Given the description of an element on the screen output the (x, y) to click on. 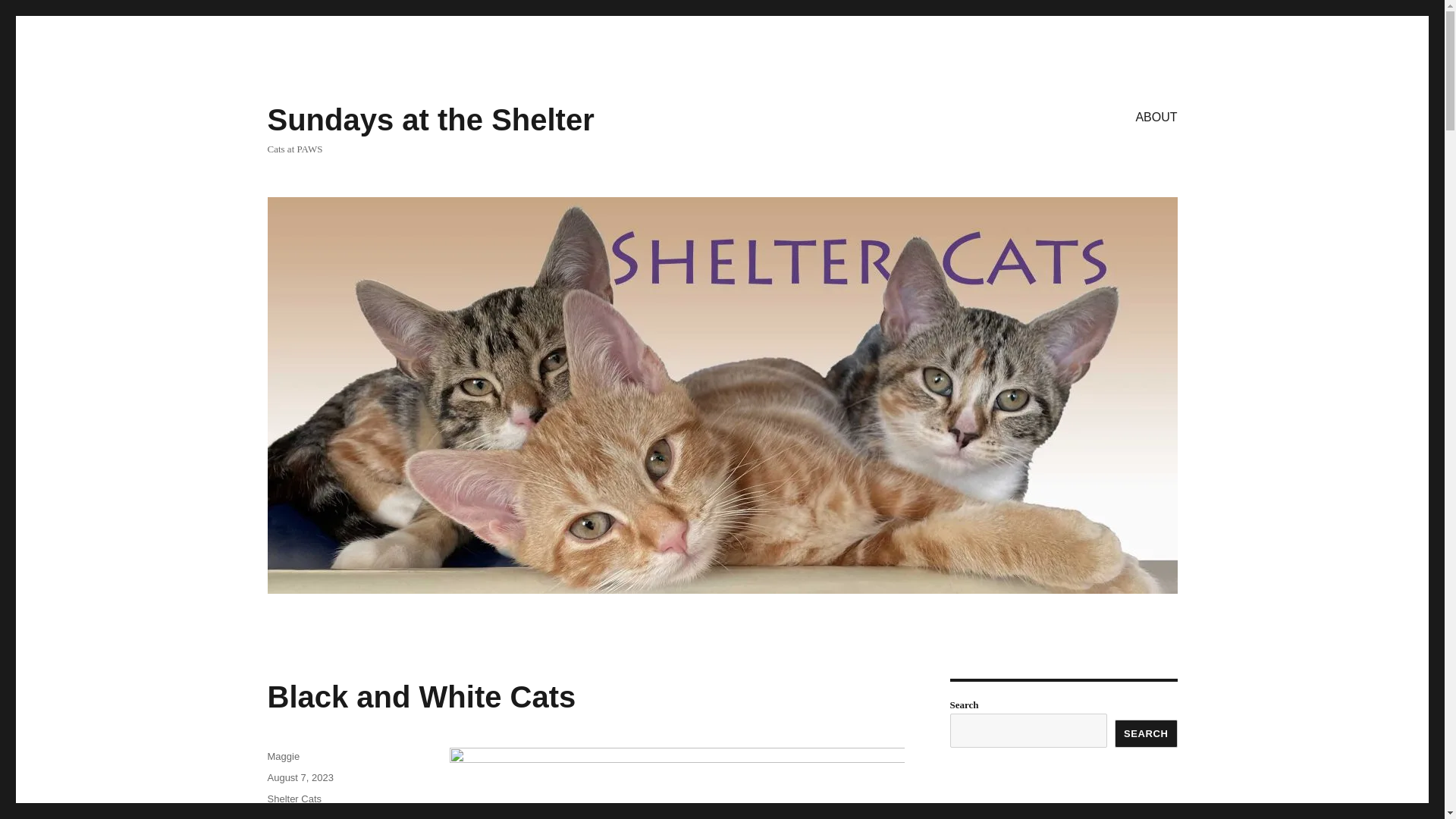
Maggie (282, 756)
black and white cats (310, 816)
PAWS animal shelter (327, 816)
ABOUT (1156, 116)
Sundays at the Shelter (430, 119)
Shelter Cats (293, 798)
August 7, 2023 (299, 777)
